Given the description of an element on the screen output the (x, y) to click on. 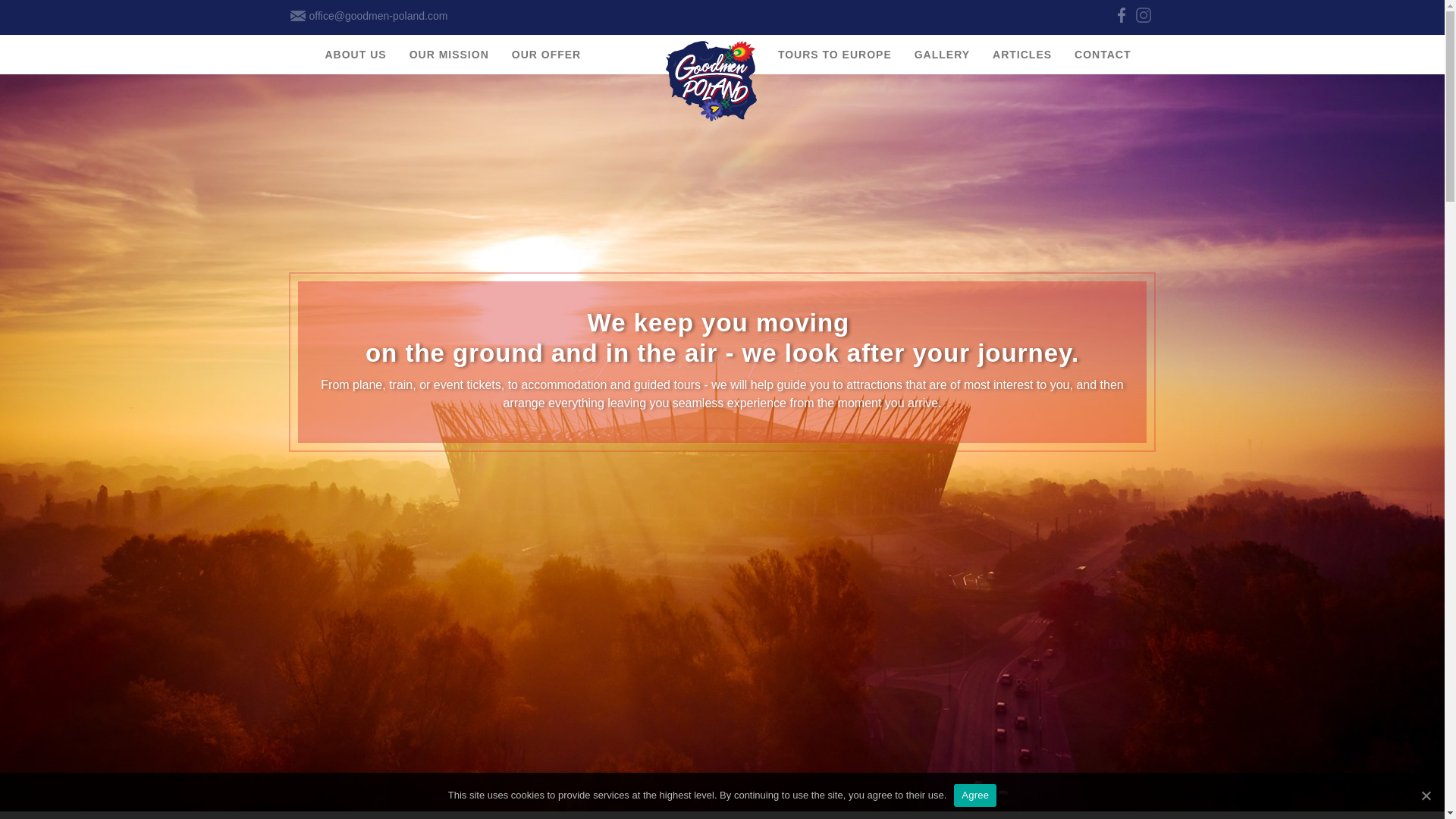
GALLERY (941, 54)
CONTACT (1101, 54)
OUR MISSION (448, 54)
ARTICLES (1021, 54)
ABOUT US (355, 54)
OUR OFFER (546, 54)
TOURS TO EUROPE (834, 54)
